Given the description of an element on the screen output the (x, y) to click on. 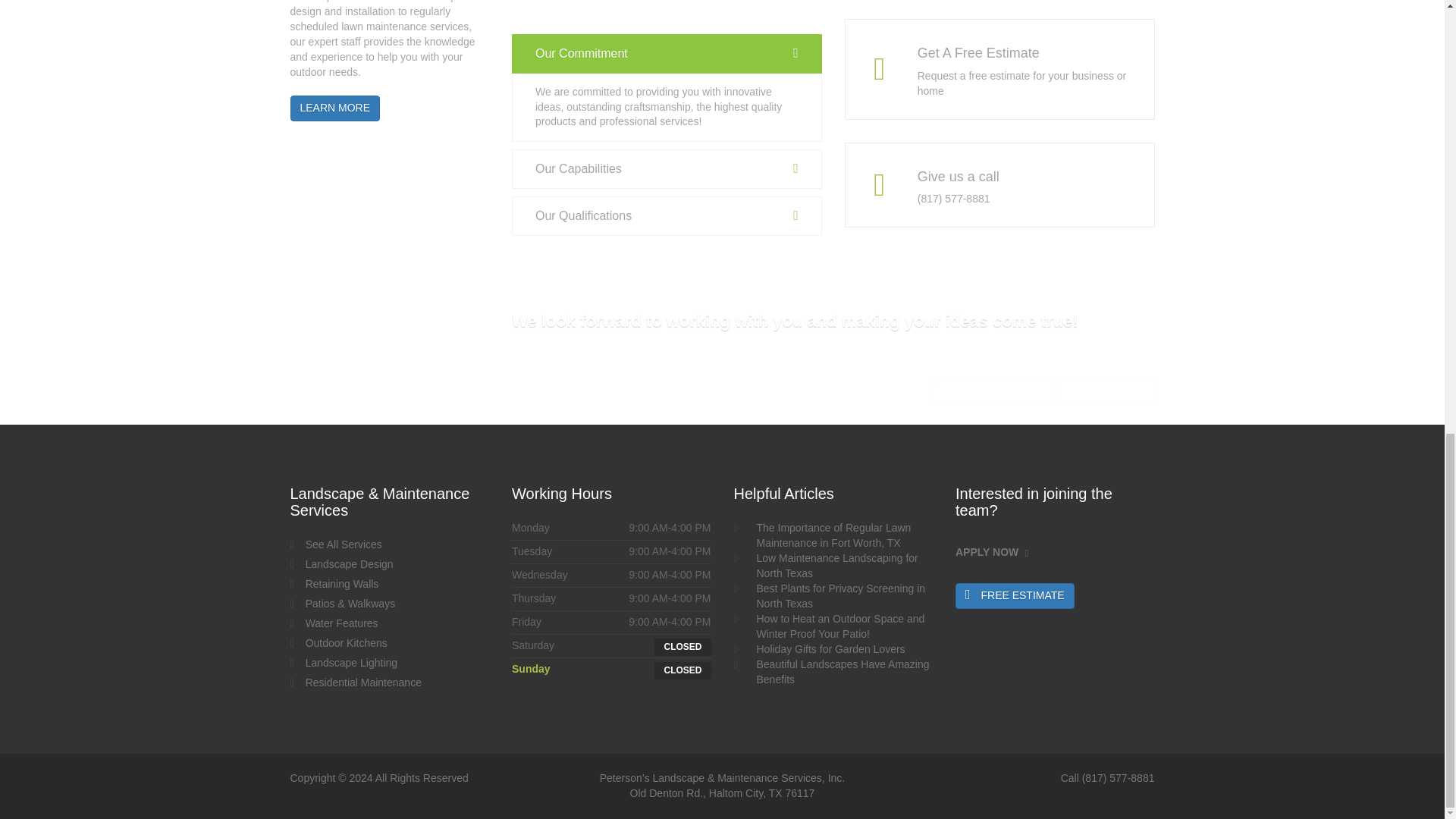
Our Capabilities (667, 169)
SEE ALL SERVICES (992, 392)
GET IN TOUCH (1106, 392)
Our Commitment (667, 53)
Our Qualifications (667, 215)
